Given the description of an element on the screen output the (x, y) to click on. 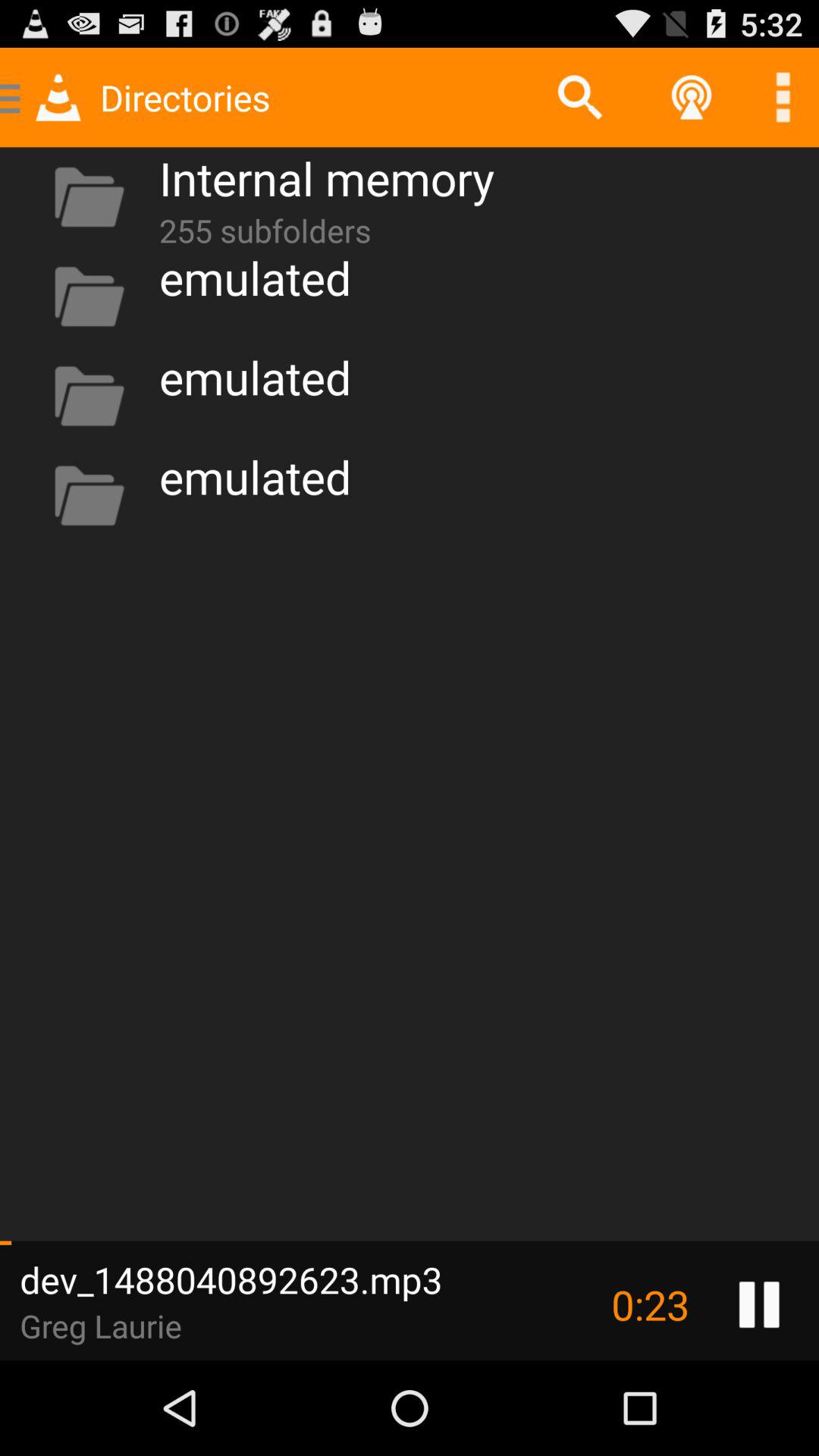
turn off the item to the right of 0:24 app (759, 1304)
